Given the description of an element on the screen output the (x, y) to click on. 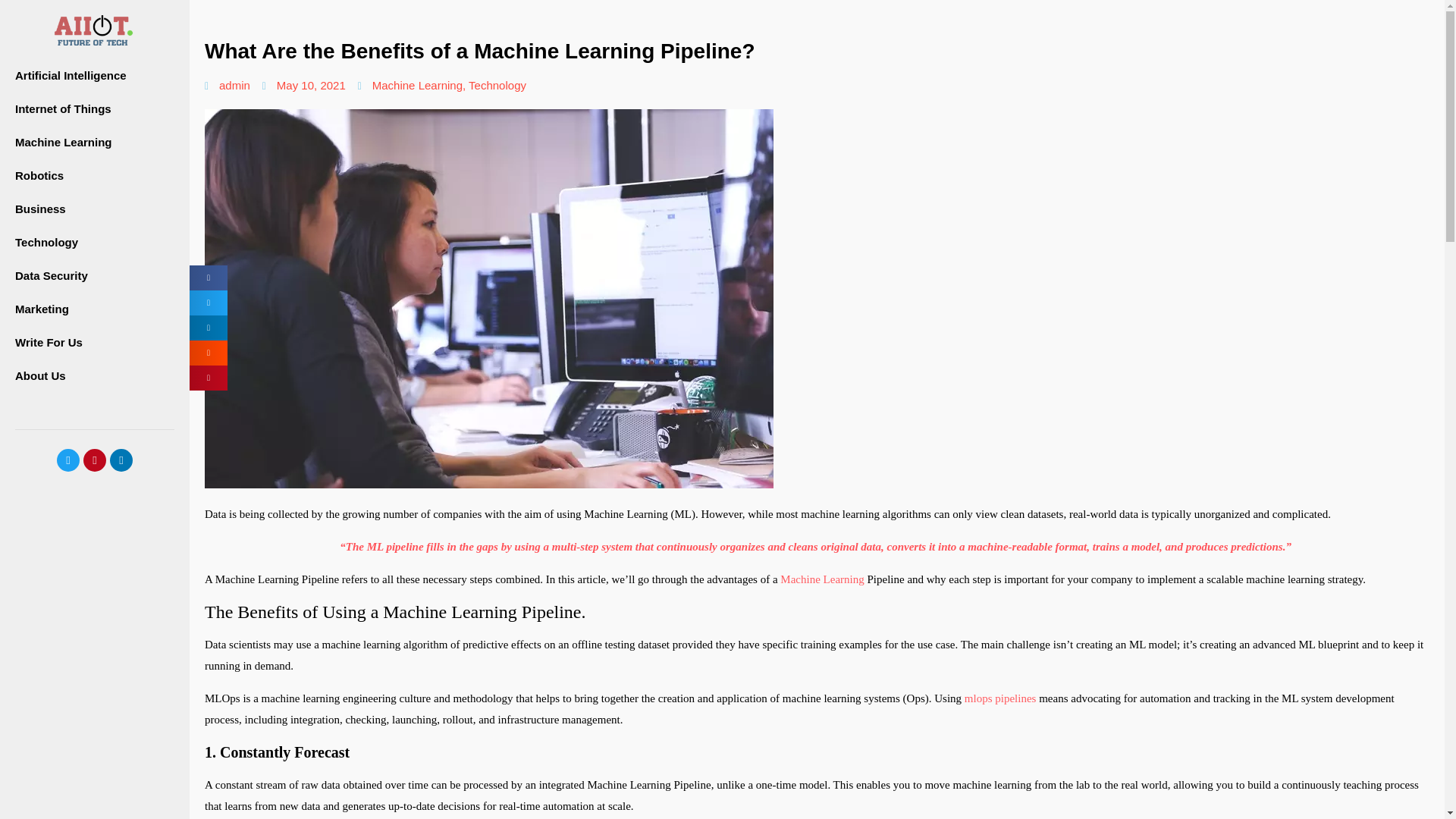
Robotics (94, 175)
May 10, 2021 (304, 85)
admin (227, 85)
Machine Learning (94, 142)
Data Security (94, 276)
Write For Us (94, 342)
Technology (94, 242)
Machine Learning (821, 579)
Marketing (94, 309)
Machine Learning (417, 84)
mlops pipelines (999, 698)
Technology (496, 84)
Internet of Things (94, 109)
About Us (94, 376)
Business (94, 209)
